Given the description of an element on the screen output the (x, y) to click on. 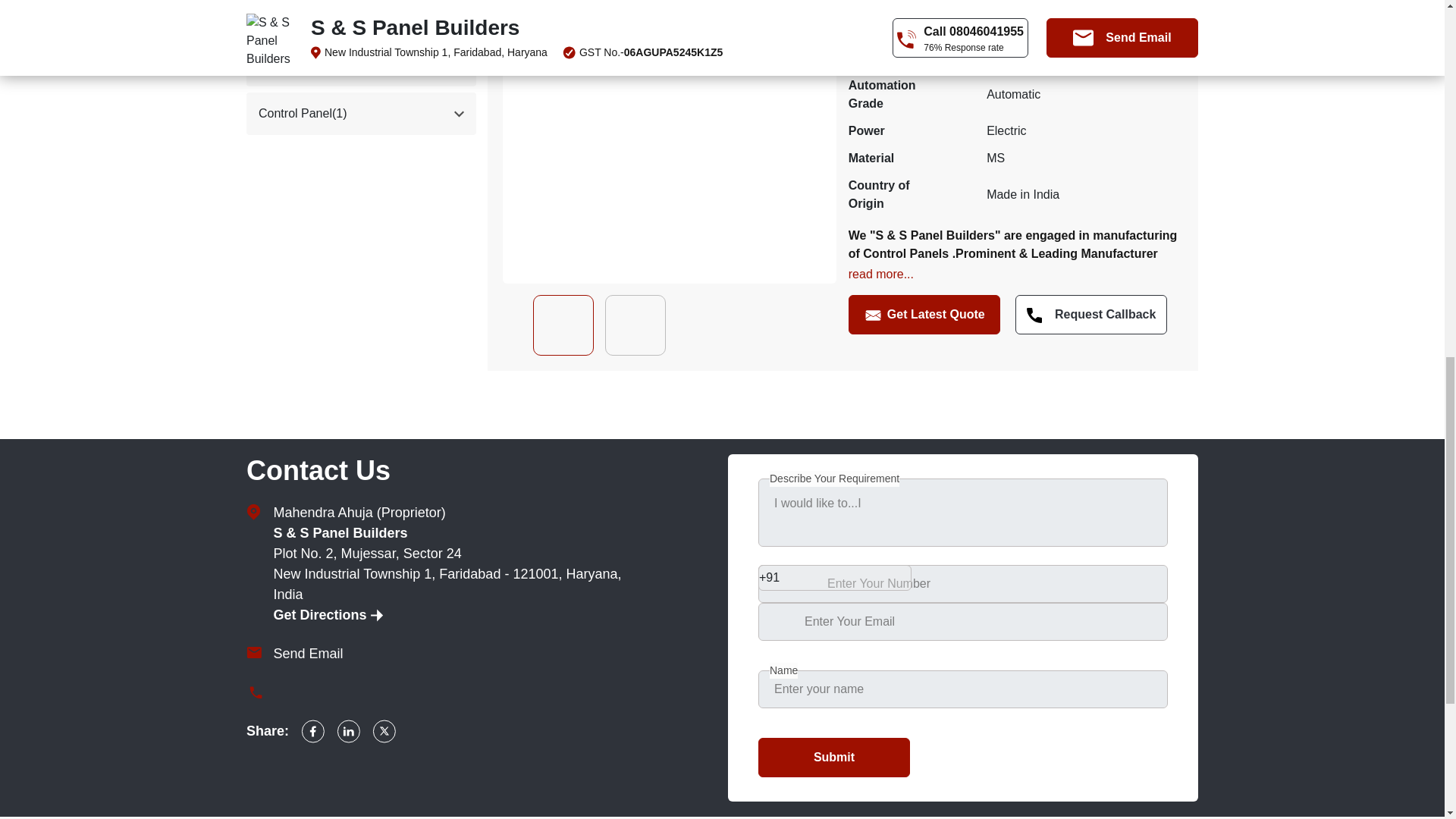
Submit (834, 757)
